Given the description of an element on the screen output the (x, y) to click on. 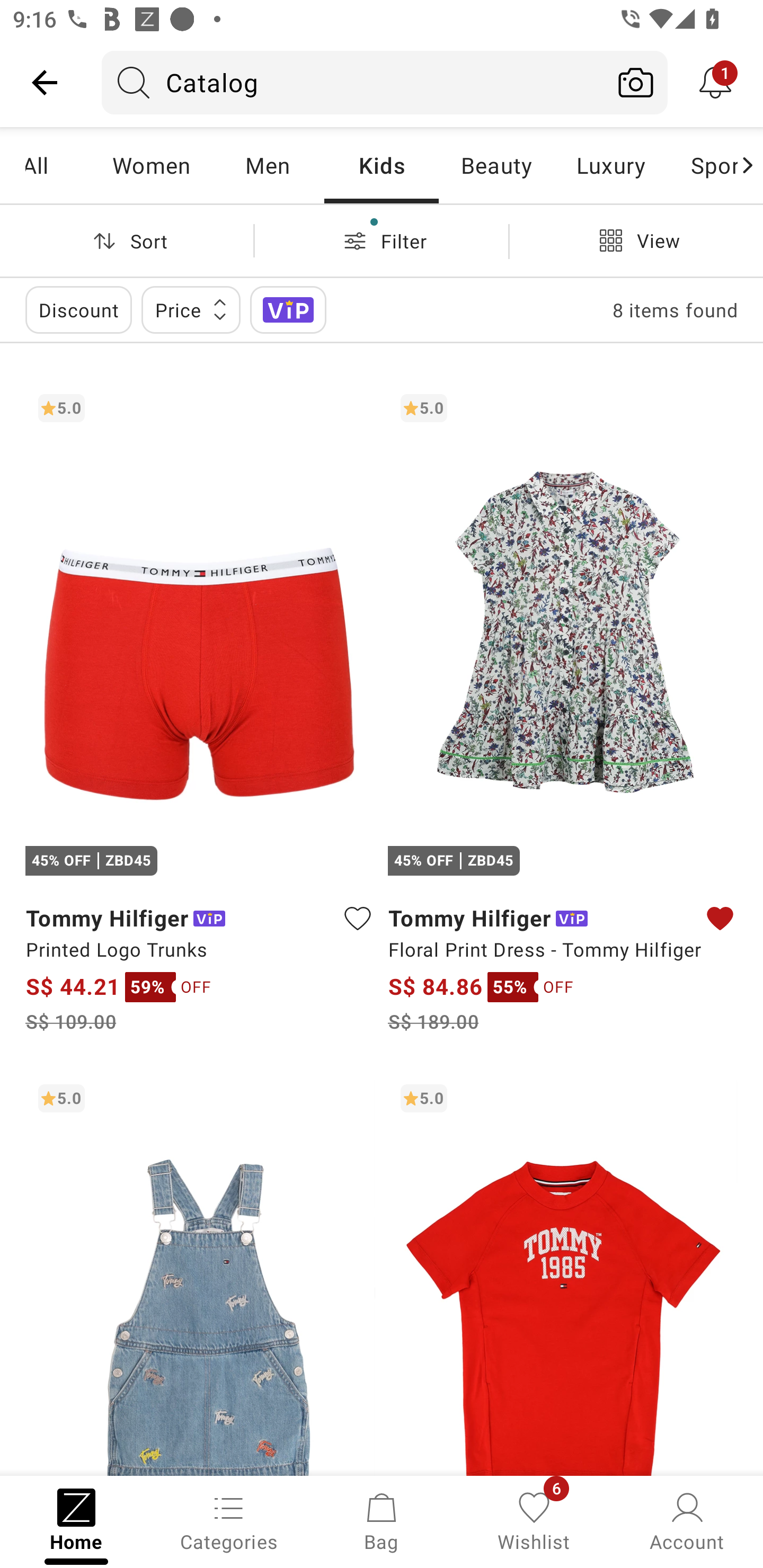
Navigate up (44, 82)
Catalog (352, 82)
All (59, 165)
Women (151, 165)
Men (266, 165)
Beauty (495, 165)
Luxury (610, 165)
Sort (126, 240)
Filter (381, 240)
View (636, 240)
Discount (78, 309)
Price (190, 309)
5.0 (200, 1272)
5.0 (562, 1272)
Categories (228, 1519)
Bag (381, 1519)
Wishlist, 6 new notifications Wishlist (533, 1519)
Account (686, 1519)
